Given the description of an element on the screen output the (x, y) to click on. 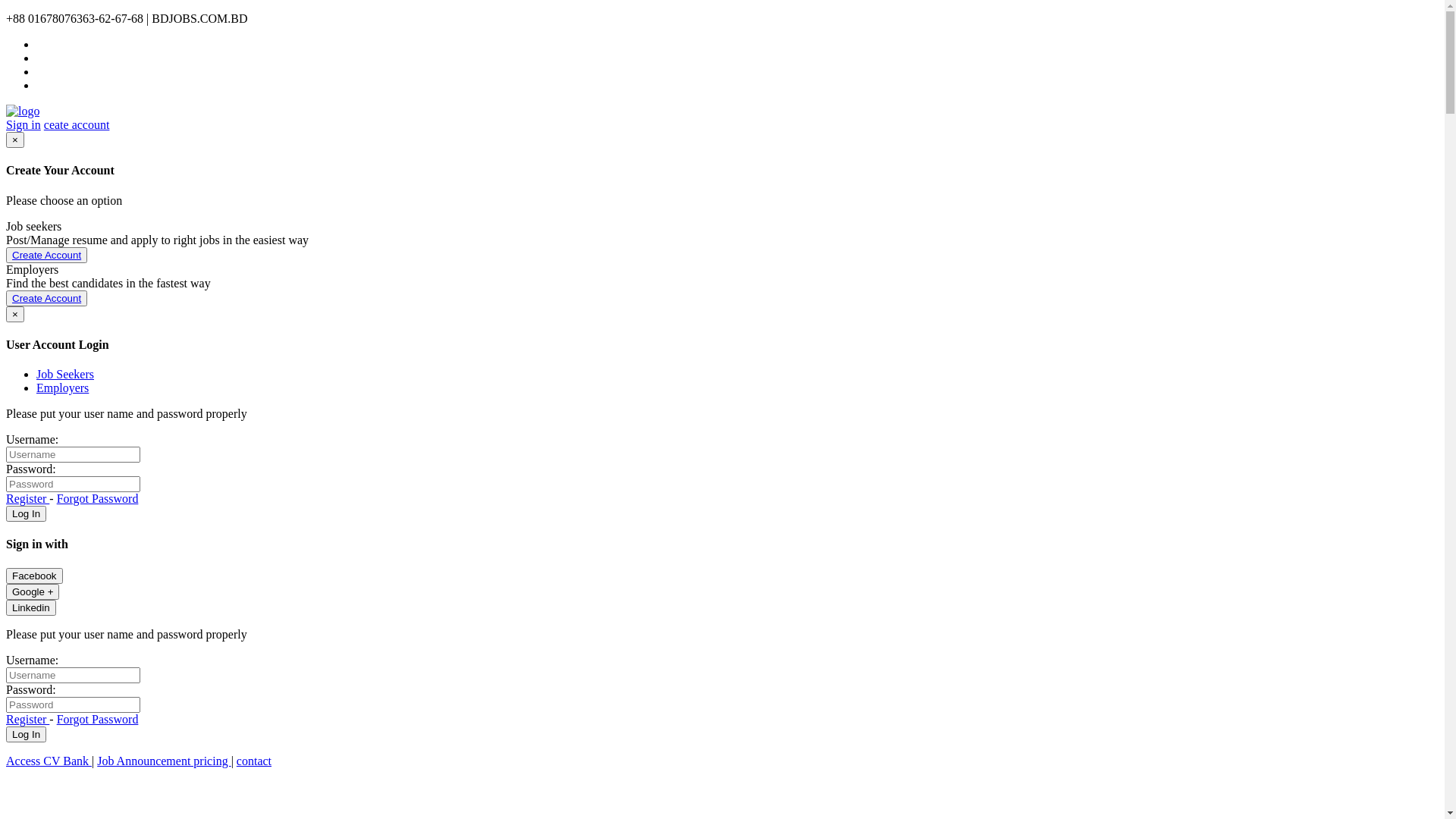
Google + Element type: text (32, 591)
Create Account Element type: text (46, 298)
Register Element type: text (27, 498)
Job Seekers Element type: text (65, 373)
Create Account Element type: text (46, 254)
Sign in Element type: text (23, 124)
Create Account Element type: text (46, 255)
Forgot Password Element type: text (97, 498)
Job Announcement pricing Element type: text (163, 760)
Linkedin Element type: text (31, 607)
Facebook Element type: text (34, 575)
Log In Element type: text (26, 734)
Forgot Password Element type: text (97, 718)
Create Account Element type: text (46, 298)
Log In Element type: text (26, 513)
ceate account Element type: text (76, 124)
contact Element type: text (253, 760)
Access CV Bank Element type: text (48, 760)
Register Element type: text (27, 718)
Employers Element type: text (62, 387)
